Given the description of an element on the screen output the (x, y) to click on. 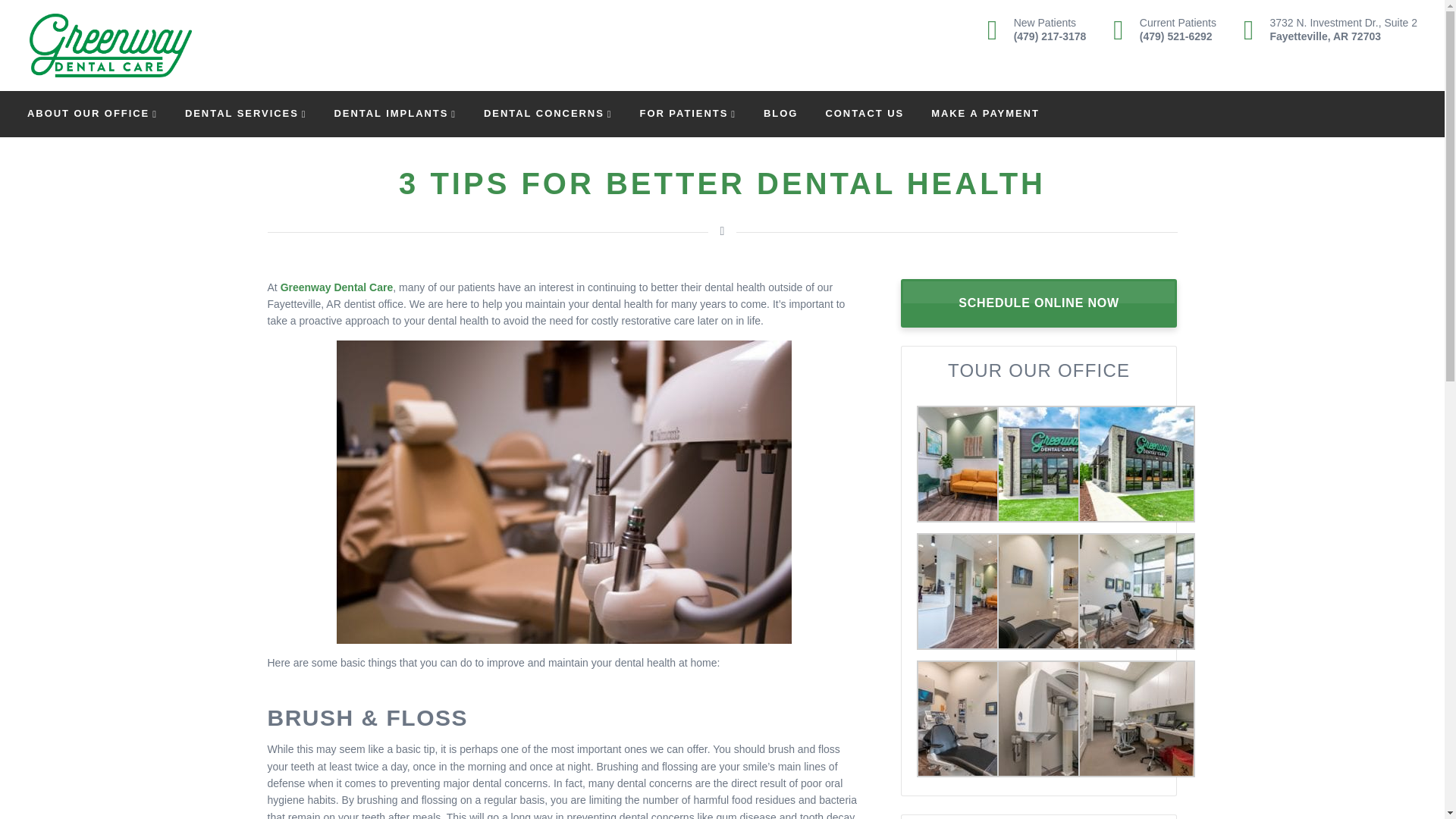
ABOUT OUR OFFICE (92, 112)
DENTAL CONCERNS (547, 112)
DENTAL IMPLANTS (1325, 29)
DENTAL SERVICES (395, 112)
FOR PATIENTS (245, 112)
